Given the description of an element on the screen output the (x, y) to click on. 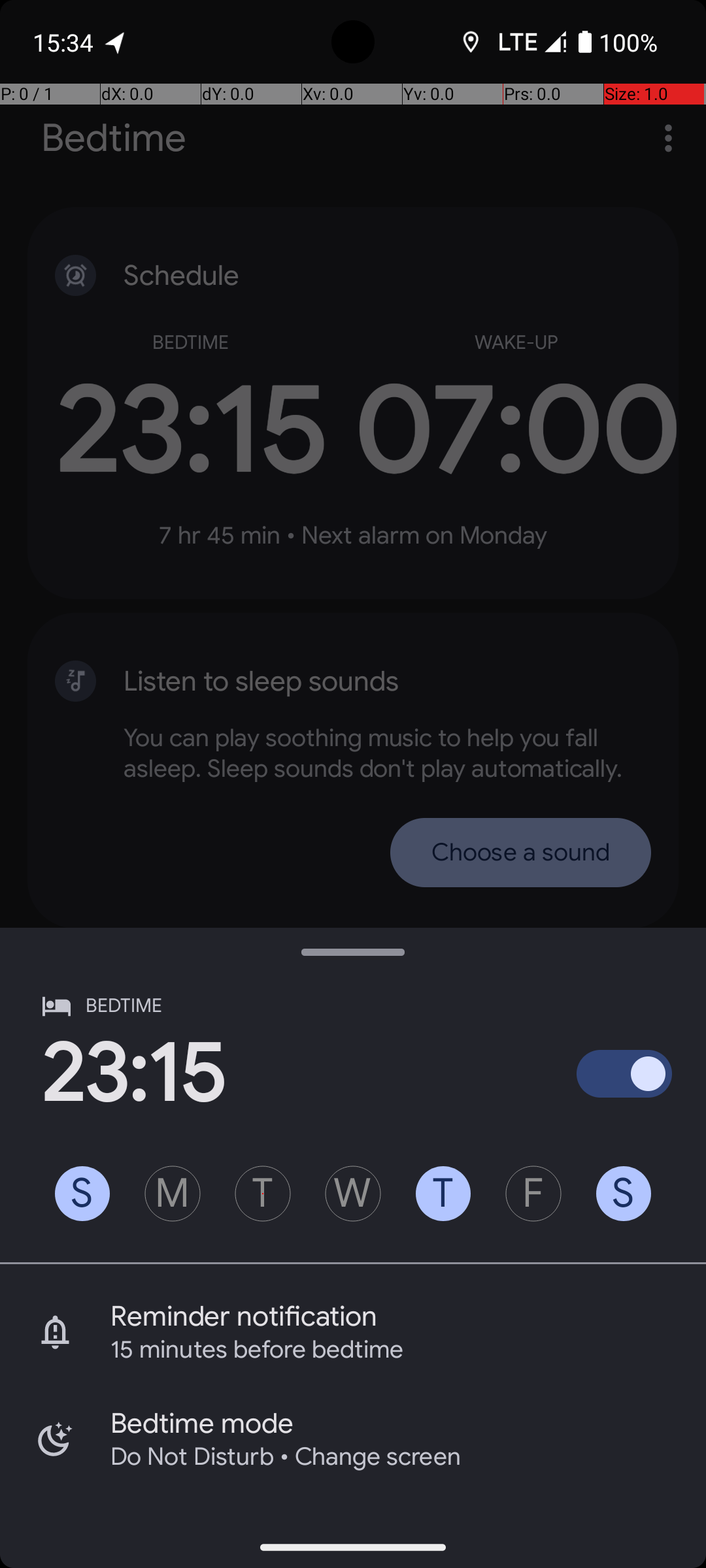
23:15 Element type: android.widget.TextView (133, 1073)
Reminder notification Element type: android.widget.TextView (408, 1316)
15 minutes before bedtime Element type: android.widget.TextView (390, 1349)
Bedtime mode Element type: android.widget.TextView (408, 1423)
Do Not Disturb • Change screen Element type: android.widget.TextView (390, 1456)
